Given the description of an element on the screen output the (x, y) to click on. 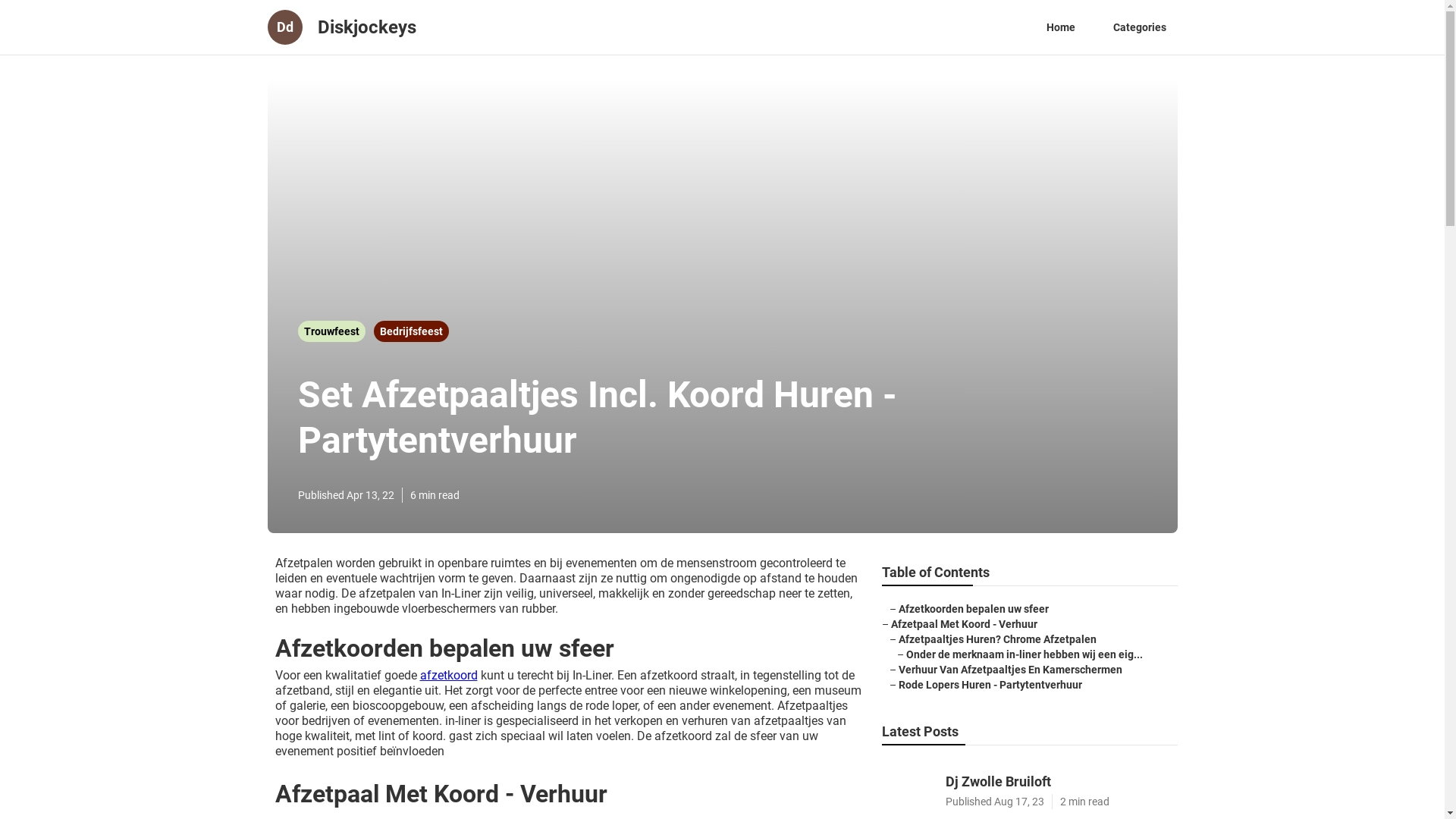
Trouwfeest Element type: text (332, 331)
Rode Lopers Huren - Partytentverhuur Element type: text (989, 684)
Afzetkoorden bepalen uw sfeer Element type: text (972, 608)
Afzetpaal Met Koord - Verhuur Element type: text (963, 624)
Afzetpaaltjes Huren? Chrome Afzetpalen Element type: text (996, 639)
Onder de merknaam in-liner hebben wij een eig... Element type: text (1023, 654)
Dj Zwolle Bruiloft
Published Aug 17, 23
2 min read Element type: text (1028, 786)
Verhuur Van Afzetpaaltjes En Kamerschermen Element type: text (1009, 669)
Bedrijfsfeest Element type: text (410, 331)
afzetkoord Element type: text (448, 675)
Categories Element type: text (1138, 26)
Home Element type: text (1059, 26)
